Given the description of an element on the screen output the (x, y) to click on. 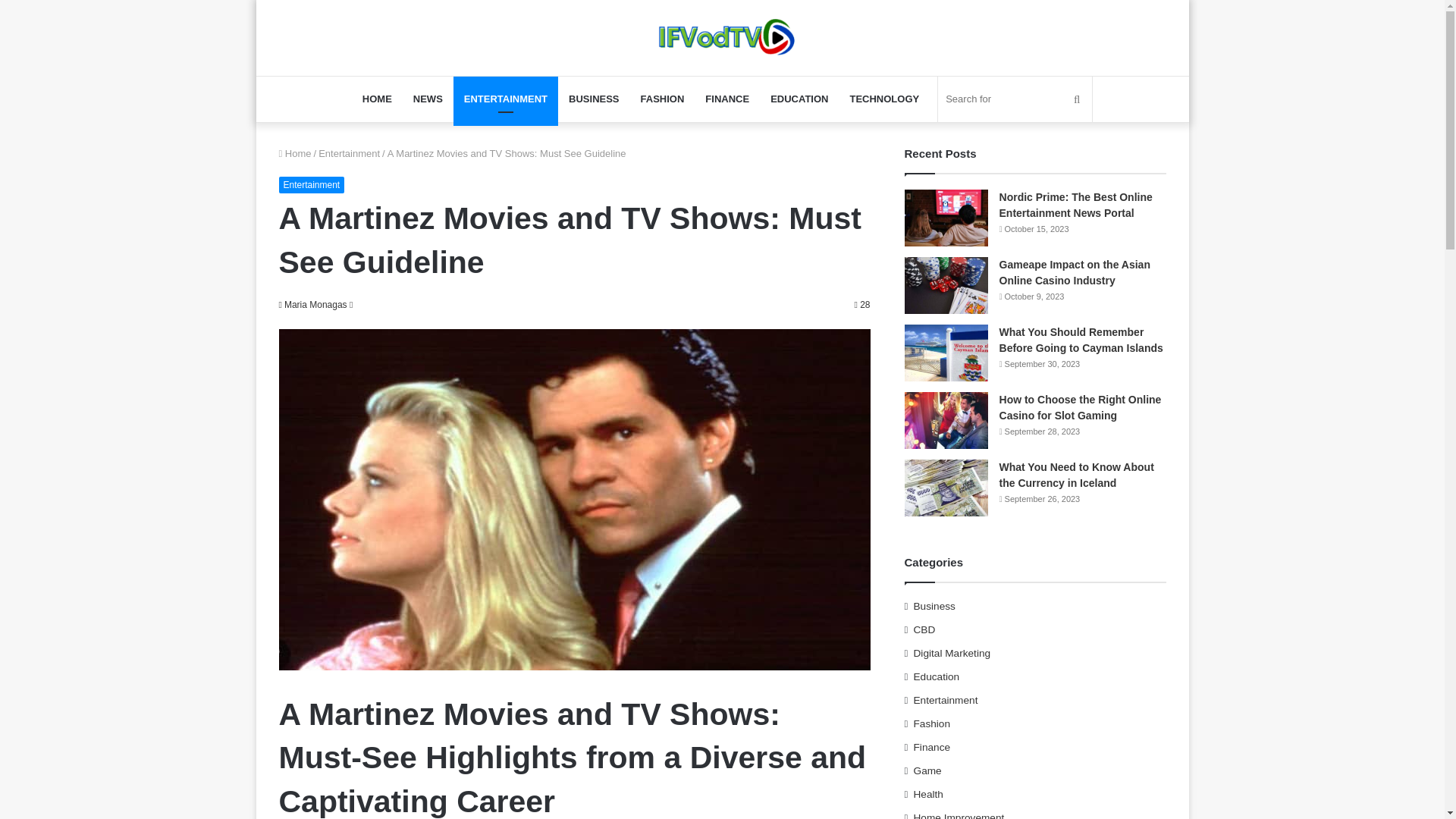
FASHION (662, 99)
How to Choose the Right Online Casino for Slot Gaming (1079, 407)
What You Should Remember Before Going to Cayman Islands (1080, 339)
BUSINESS (592, 99)
ENTERTAINMENT (504, 99)
TECHNOLOGY (884, 99)
Entertainment (349, 153)
HOME (377, 99)
Gameape Impact on the Asian Online Casino Industry (1074, 272)
EDUCATION (799, 99)
